Given the description of an element on the screen output the (x, y) to click on. 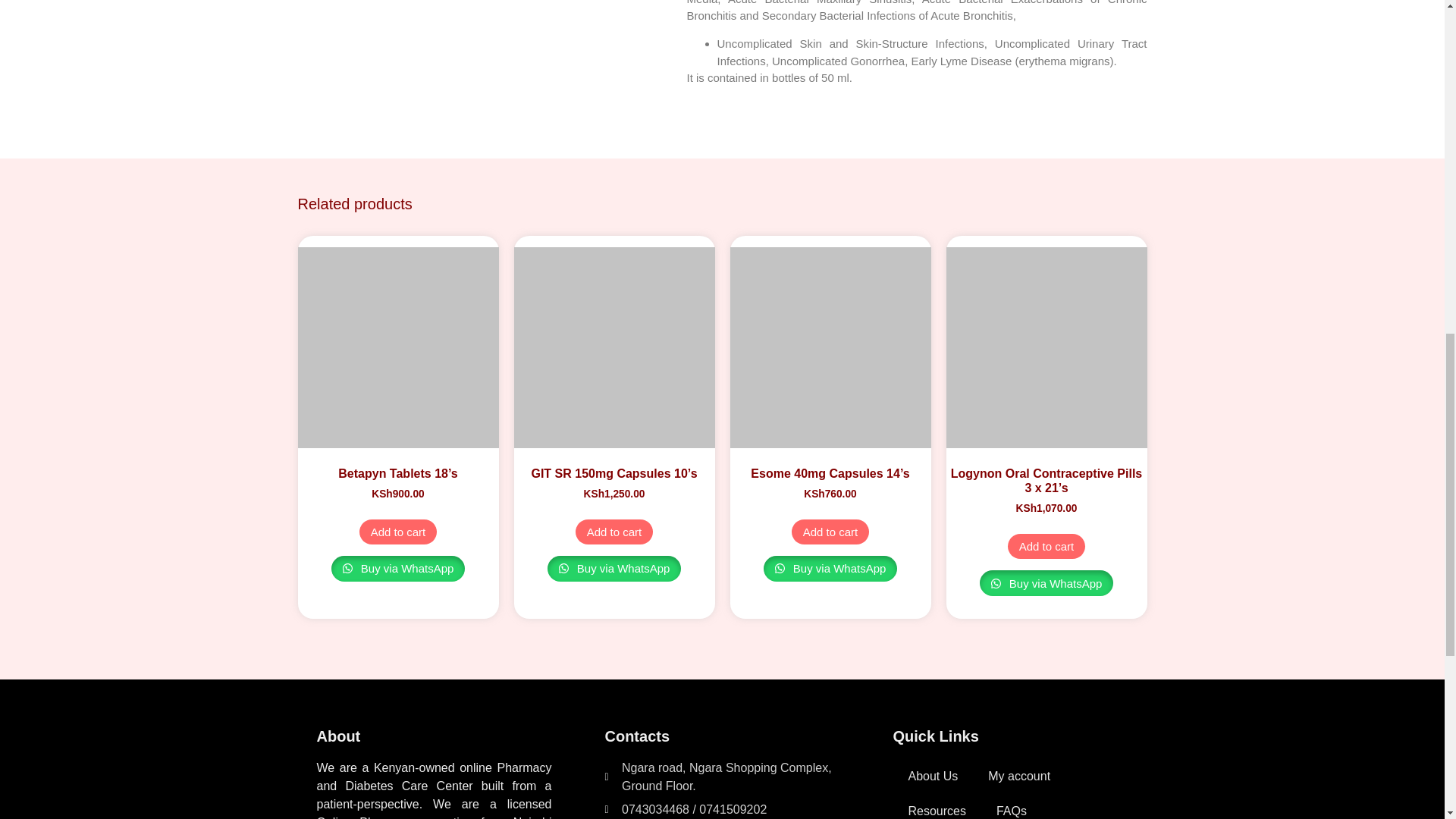
Complete order on WhatsApp to buy GIT SR 150mg Capsules 10's (614, 568)
Complete order on WhatsApp to buy Esome 40mg Capsules 14's (830, 568)
Complete order on WhatsApp to buy Betapyn Tablets 18's (398, 568)
